Given the description of an element on the screen output the (x, y) to click on. 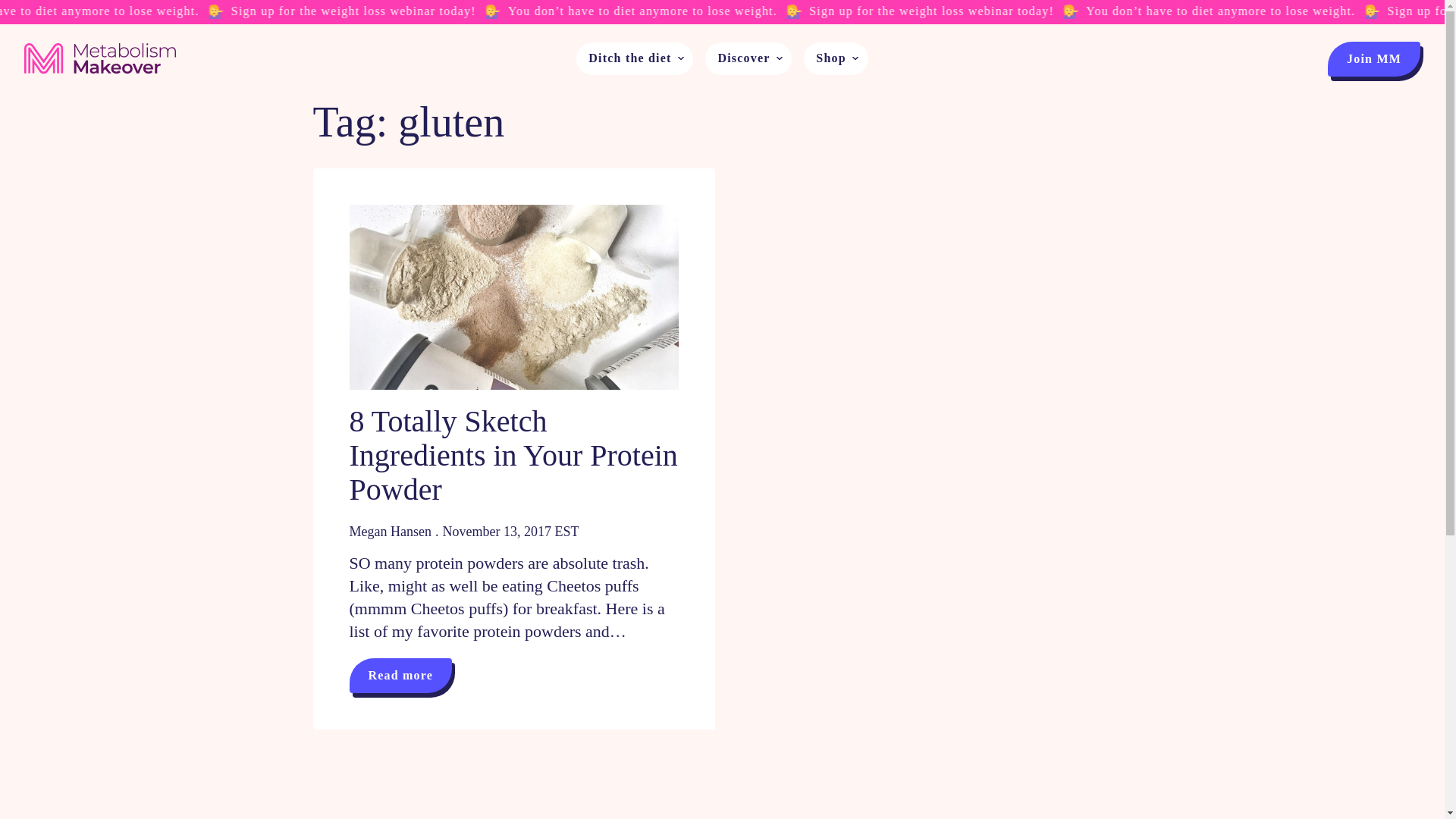
Shop (824, 58)
Join MM (1374, 58)
8 Totally Sketch Ingredients in Your Protein Powder 1 (513, 296)
Ditch the diet (623, 58)
Discover (737, 58)
8 Totally Sketch Ingredients in Your Protein Powder (513, 455)
Read more (400, 675)
